Given the description of an element on the screen output the (x, y) to click on. 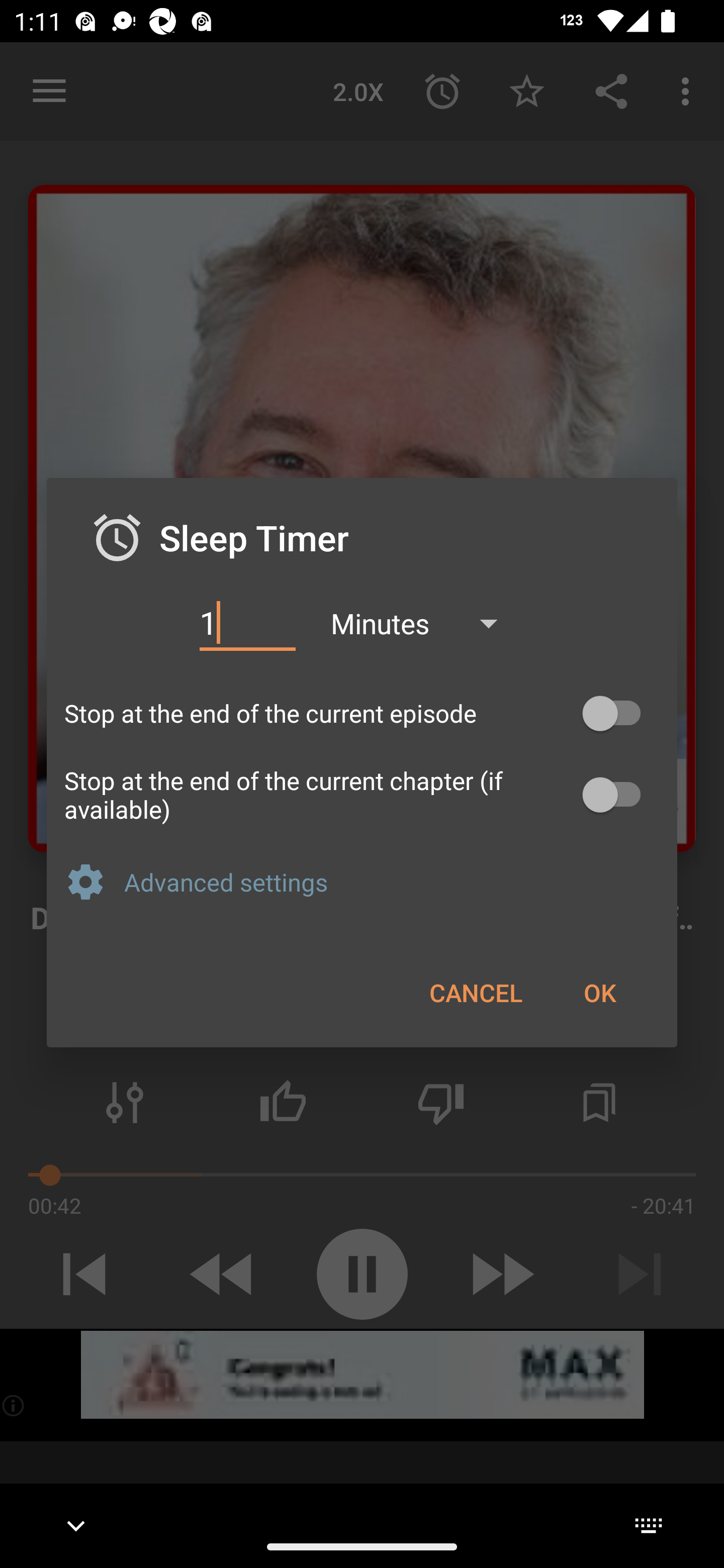
1 (247, 623)
Minutes (423, 623)
Stop at the end of the current episode (361, 712)
Advanced settings (391, 881)
CANCEL (475, 992)
OK (599, 992)
